Given the description of an element on the screen output the (x, y) to click on. 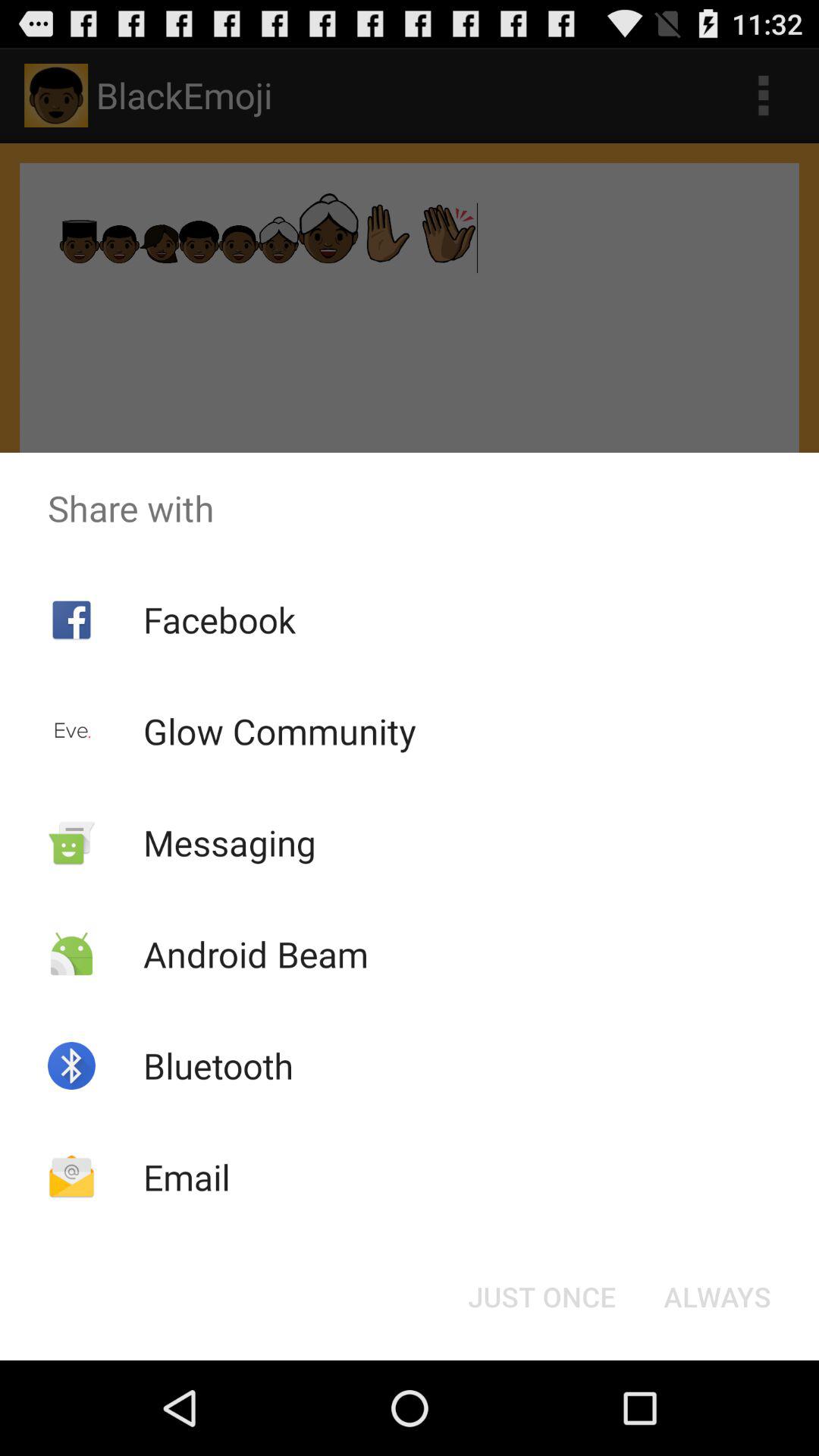
tap item next to just once (717, 1296)
